Given the description of an element on the screen output the (x, y) to click on. 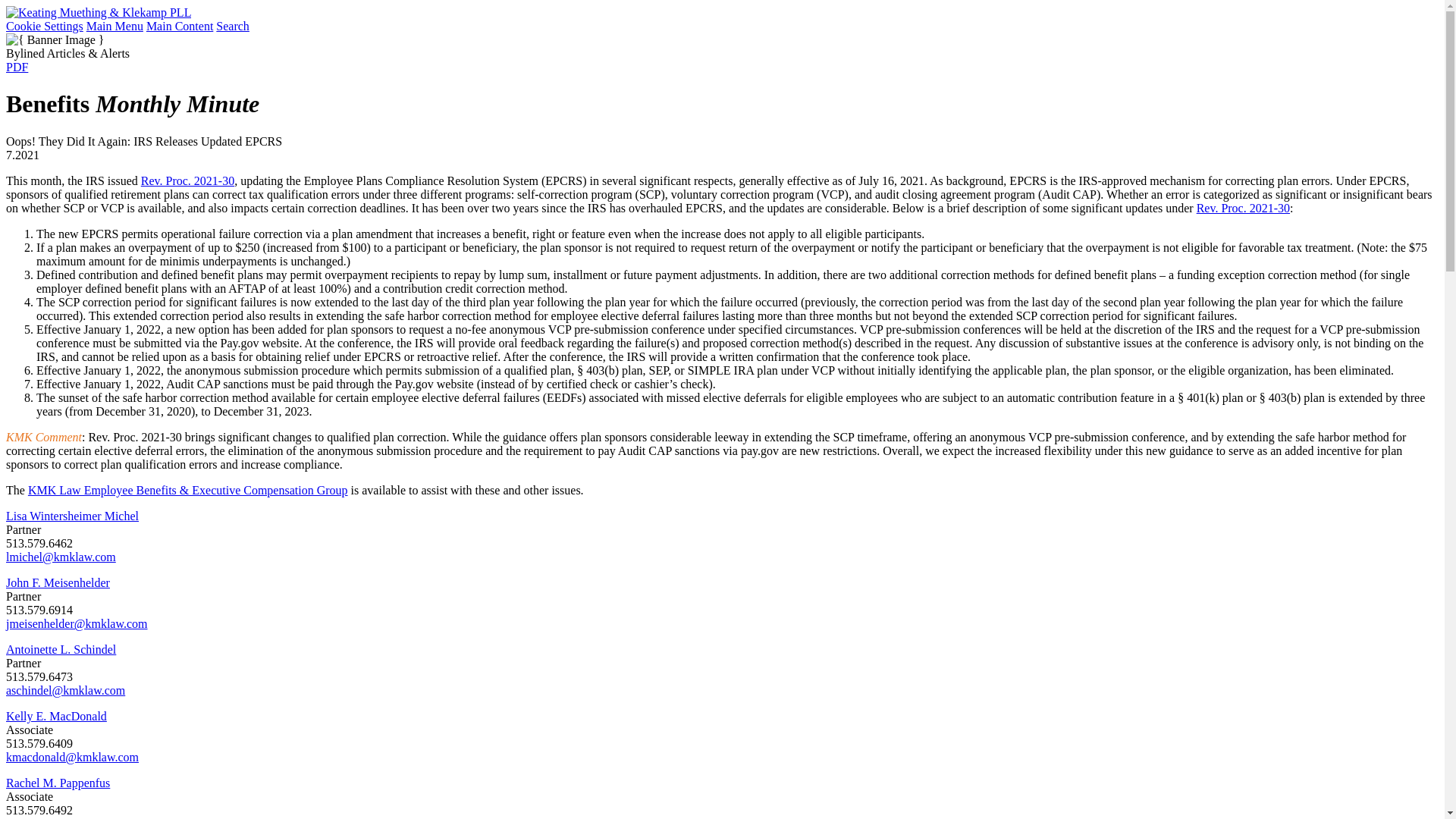
Lisa Michel (71, 515)
IRS.gov (1243, 207)
Main Content (179, 25)
Rachel Pappenfus (57, 782)
KMK Law Employee Benefits and Executive Compensation Group (187, 490)
Main Menu (113, 25)
Cookie Settings (43, 25)
Rachel M. Pappenfus (57, 782)
Antoinette L. Schindel (60, 649)
Antoinette Schindel (60, 649)
PDF (16, 66)
Rev. Proc. 2021-30 (1243, 207)
Kelly E. MacDonald (55, 716)
Rev. Proc. 2021-30 (187, 180)
Kelly MacDonald (55, 716)
